Given the description of an element on the screen output the (x, y) to click on. 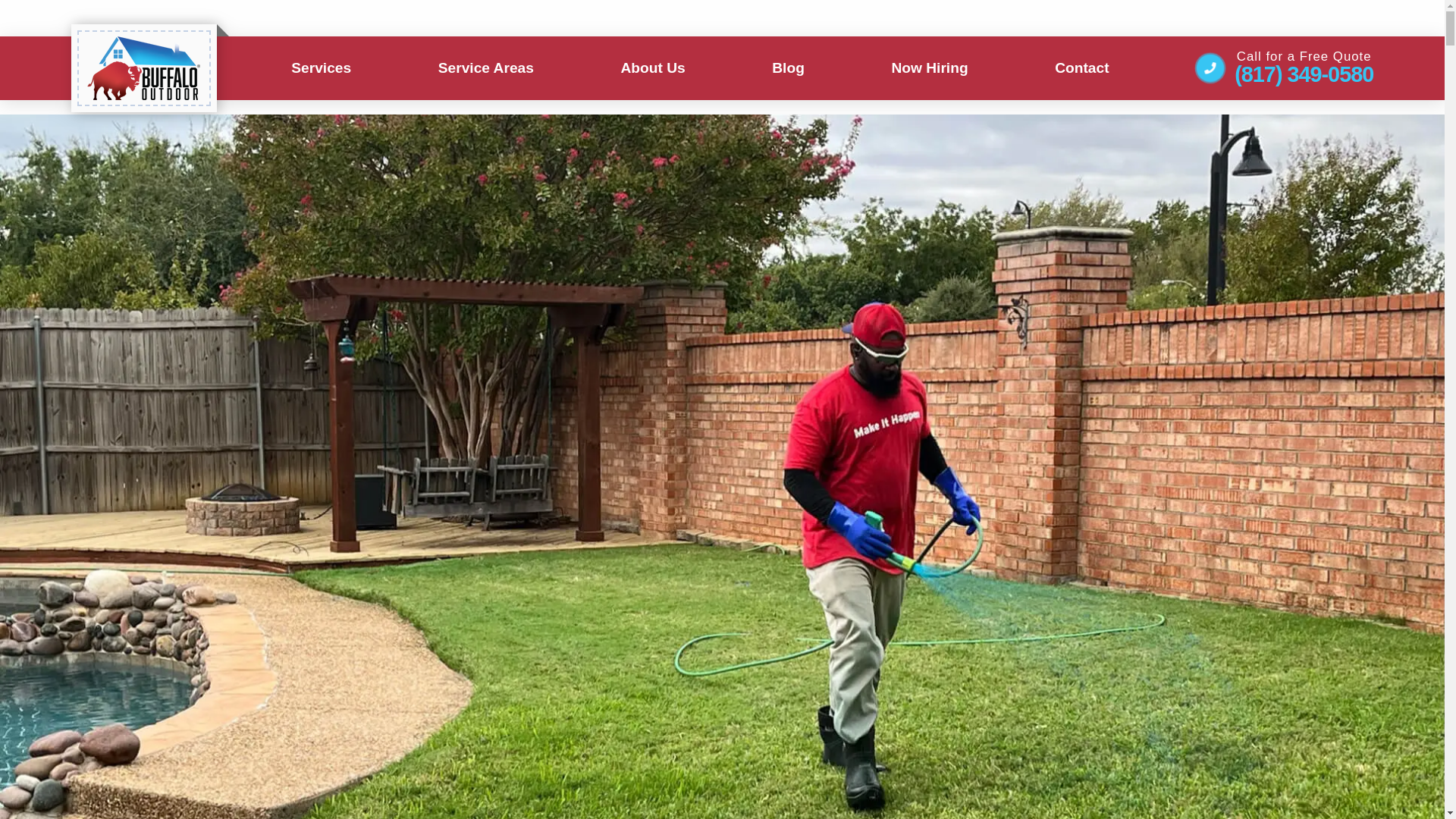
Services (320, 67)
